Given the description of an element on the screen output the (x, y) to click on. 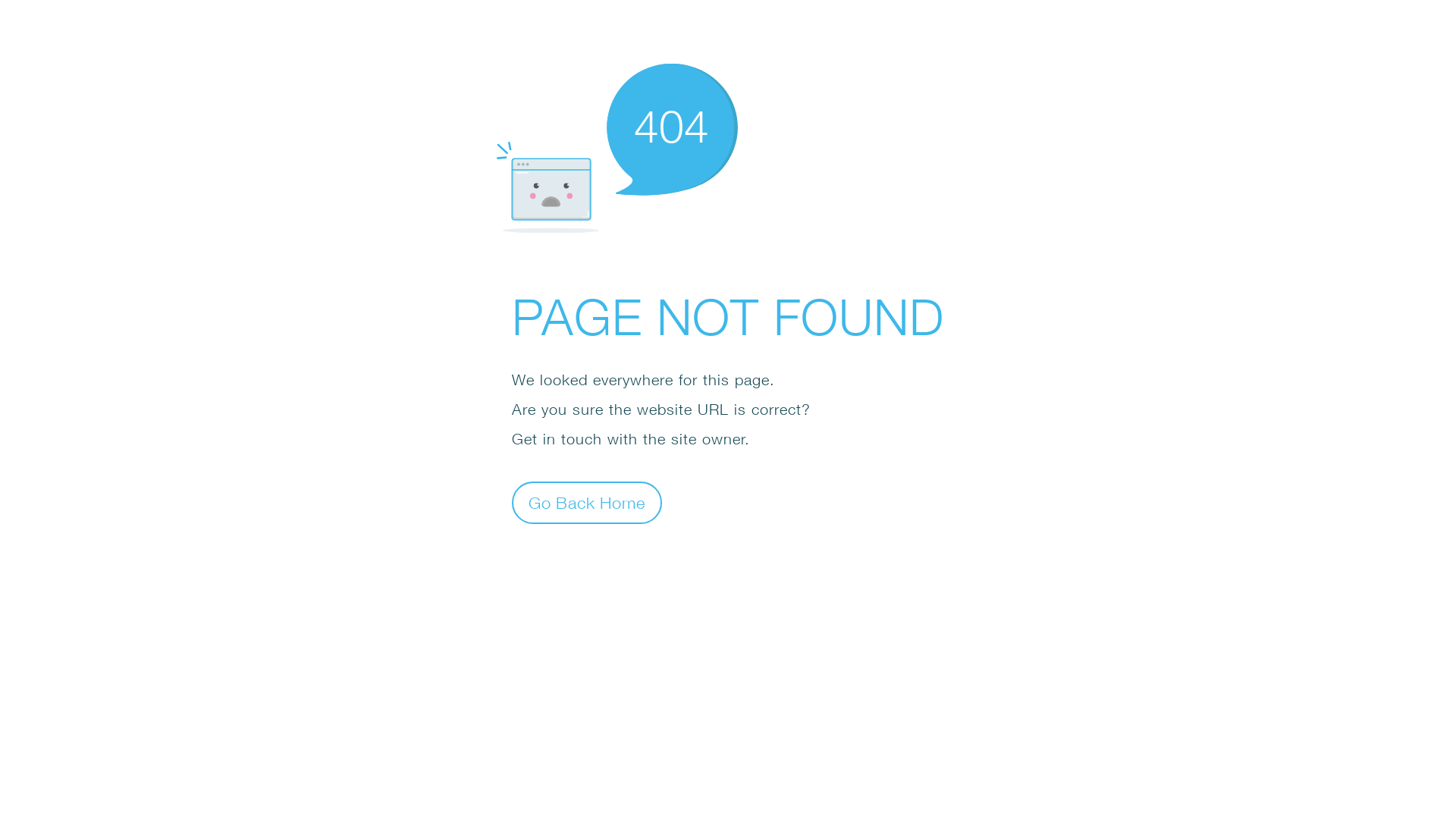
Go Back Home Element type: text (586, 502)
